Given the description of an element on the screen output the (x, y) to click on. 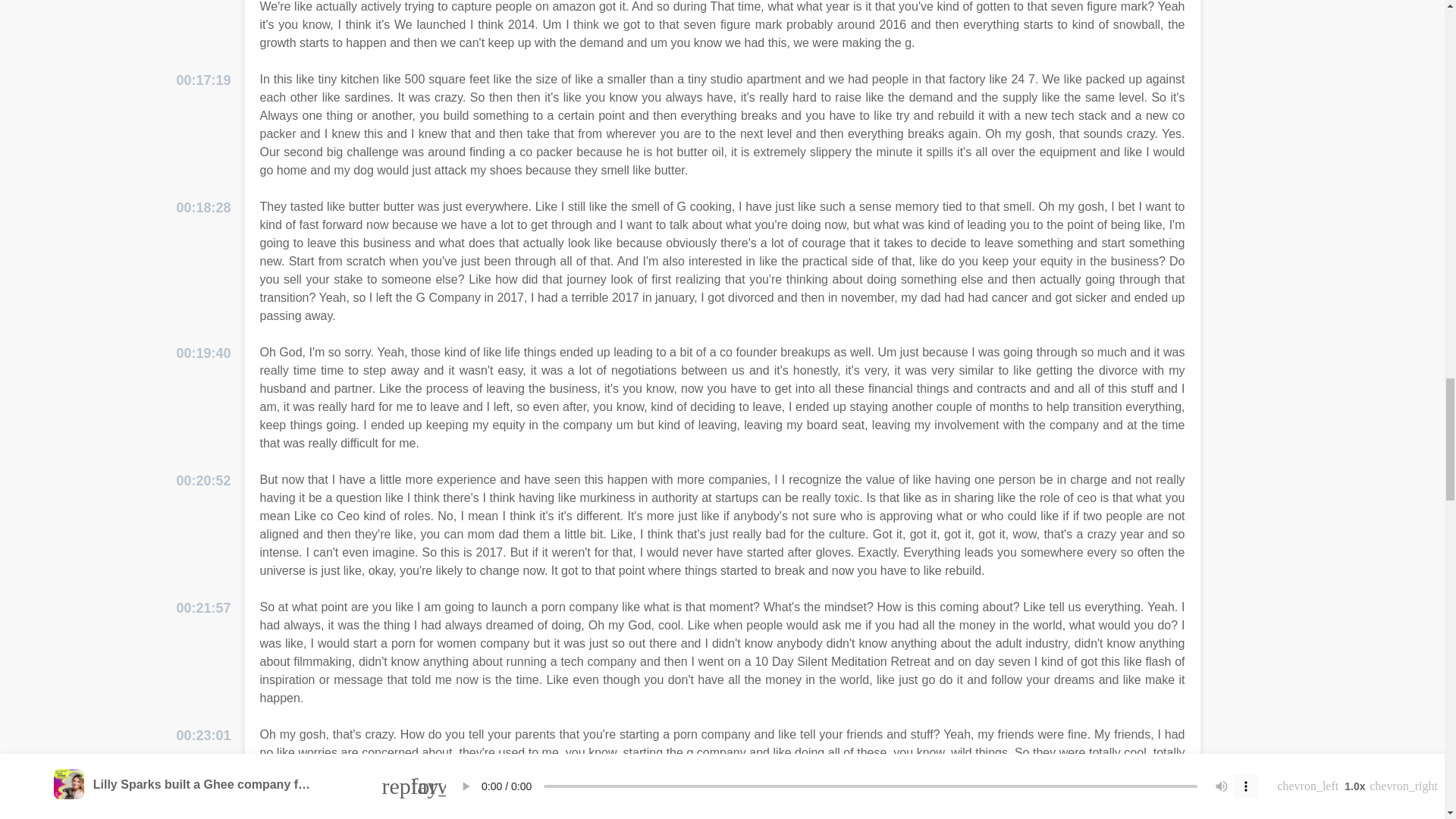
00:18:28 (203, 208)
00:21:57 (203, 608)
00:23:01 (203, 735)
00:20:52 (203, 480)
00:19:40 (203, 353)
00:17:19 (203, 80)
